Given the description of an element on the screen output the (x, y) to click on. 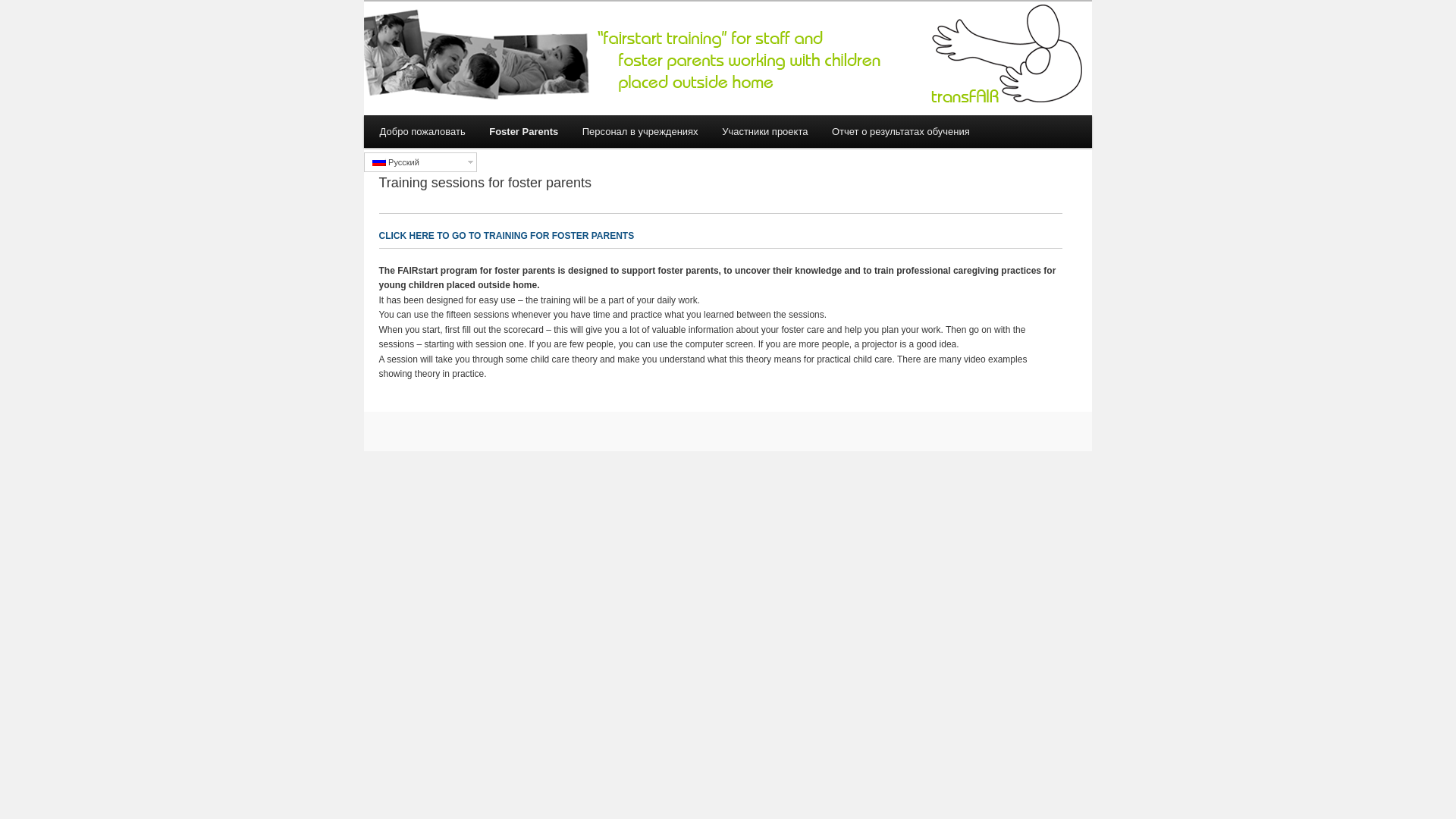
Skip to secondary content (438, 130)
CLICK HERE TO GO TO TRAINING FOR FOSTER PARENTS (506, 235)
fairstartedu.us (497, 48)
Skip to secondary content (438, 130)
Foster Parents (523, 131)
fairstartedu.us (497, 48)
Skip to primary content (432, 130)
Skip to primary content (432, 130)
